Given the description of an element on the screen output the (x, y) to click on. 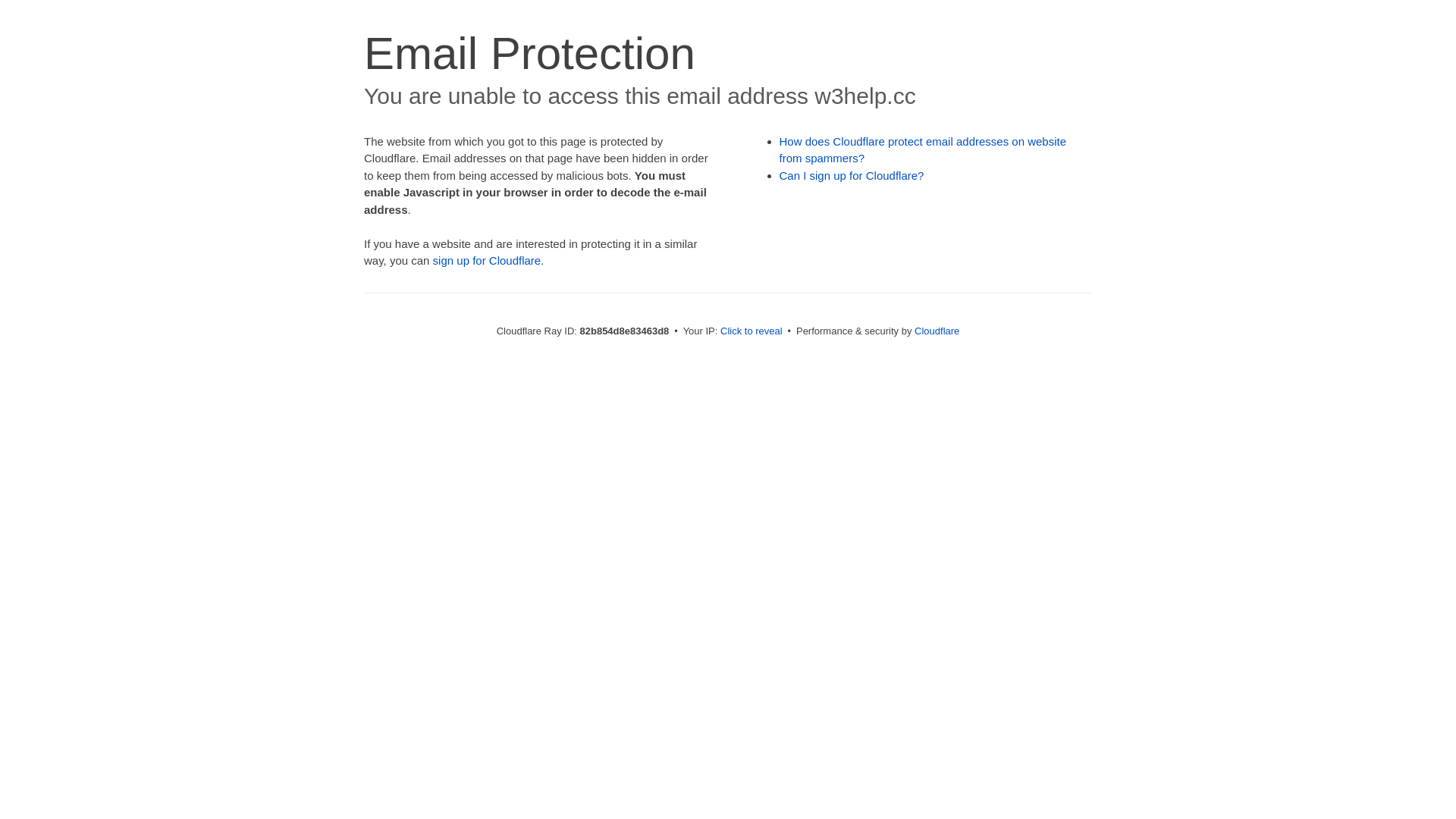
Click to reveal Element type: text (751, 330)
Cloudflare Element type: text (936, 330)
sign up for Cloudflare Element type: text (487, 260)
Can I sign up for Cloudflare? Element type: text (851, 175)
